Given the description of an element on the screen output the (x, y) to click on. 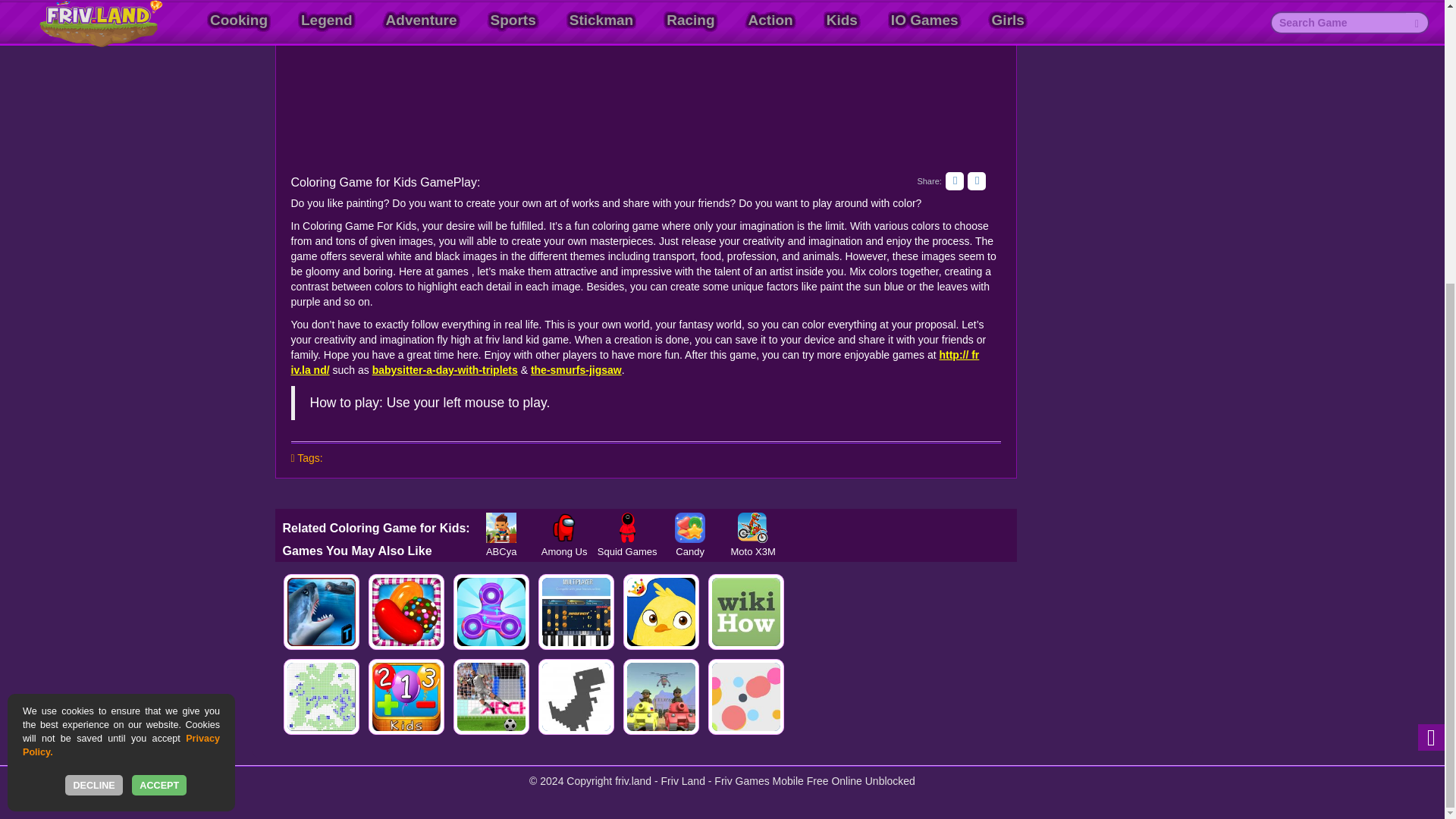
Moto X3M (753, 527)
Among Us (563, 527)
Candy Crush Game (406, 611)
ABCya (501, 527)
the-smurfs-jigsaw (576, 369)
Among Us (563, 527)
ABCya (501, 527)
Privacy Policy. (121, 319)
Candy (690, 527)
Sharkz.io game (321, 611)
